Given the description of an element on the screen output the (x, y) to click on. 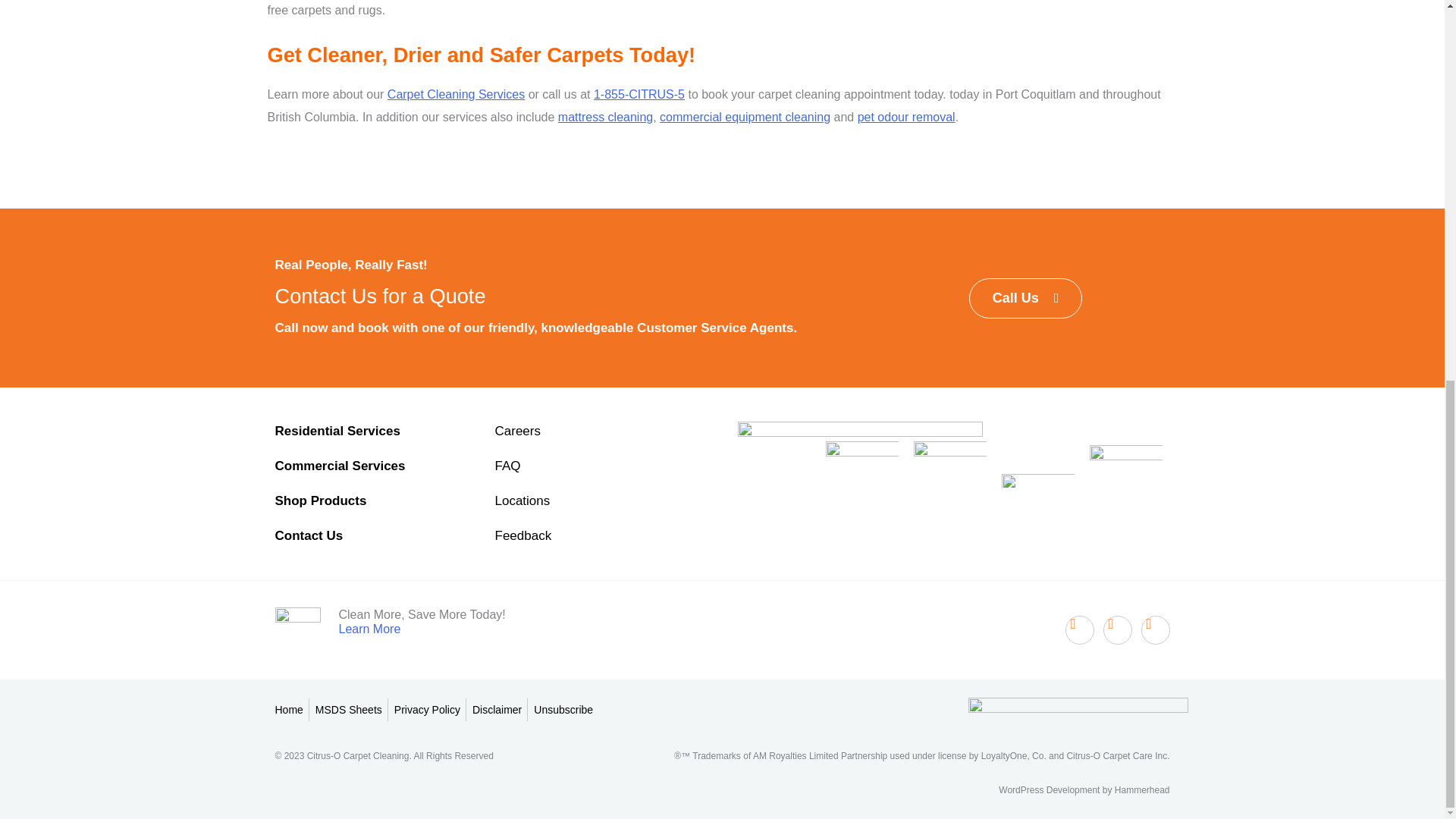
mattress cleaning (604, 116)
pet odour removal (906, 116)
commercial carpet cleaning (744, 116)
